Given the description of an element on the screen output the (x, y) to click on. 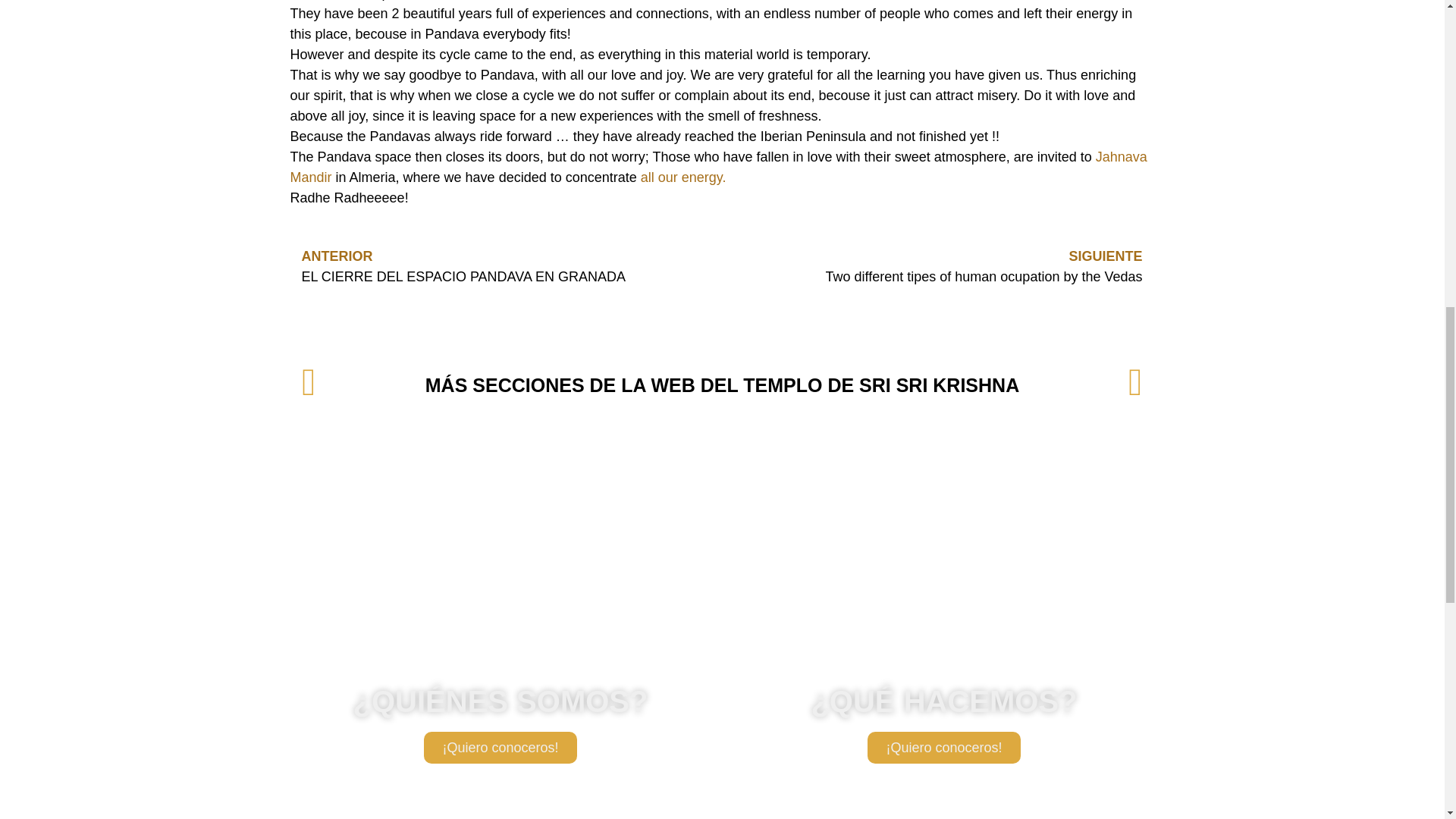
Radhe Radheeeee! (348, 197)
